Given the description of an element on the screen output the (x, y) to click on. 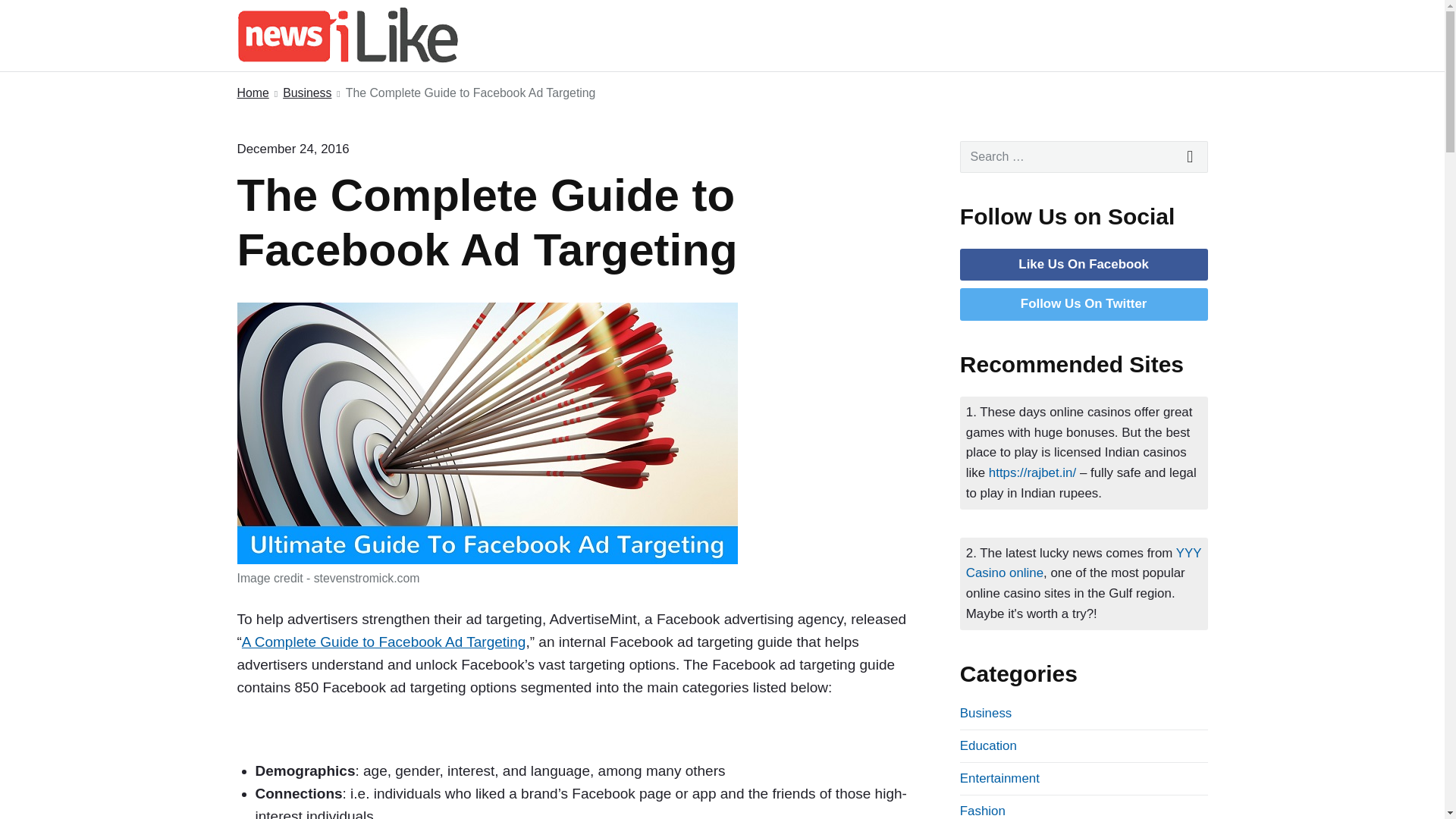
Home (251, 93)
Entertainment (999, 778)
Business (306, 93)
Education (987, 745)
YYY Casino online (1083, 563)
Fashion (982, 810)
Like Us On Facebook (1082, 264)
Search for: (1083, 156)
Saturday, December 24, 2016, 6:50 pm (292, 148)
Business (985, 712)
